Given the description of an element on the screen output the (x, y) to click on. 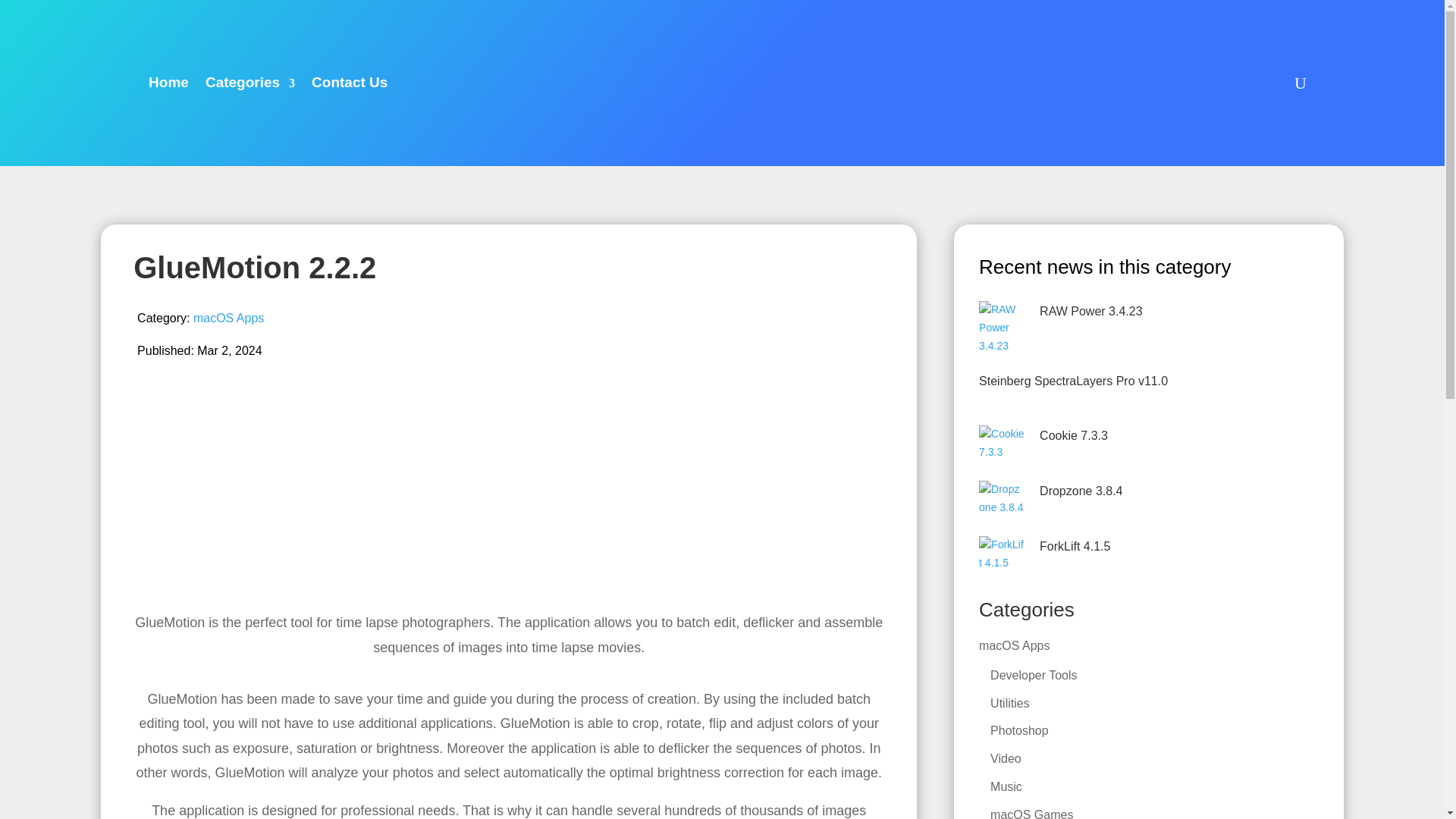
Contact Us (349, 83)
macOS Games (1031, 813)
Utilities (1009, 702)
Photoshop (1019, 730)
macOS Apps (228, 318)
Steinberg SpectraLayers Pro v11.0 (1072, 380)
Cookie 7.3.3 (1073, 435)
Music (1006, 786)
Dropzone 3.8.4 (1080, 490)
ForkLift 4.1.5 (1074, 545)
